Given the description of an element on the screen output the (x, y) to click on. 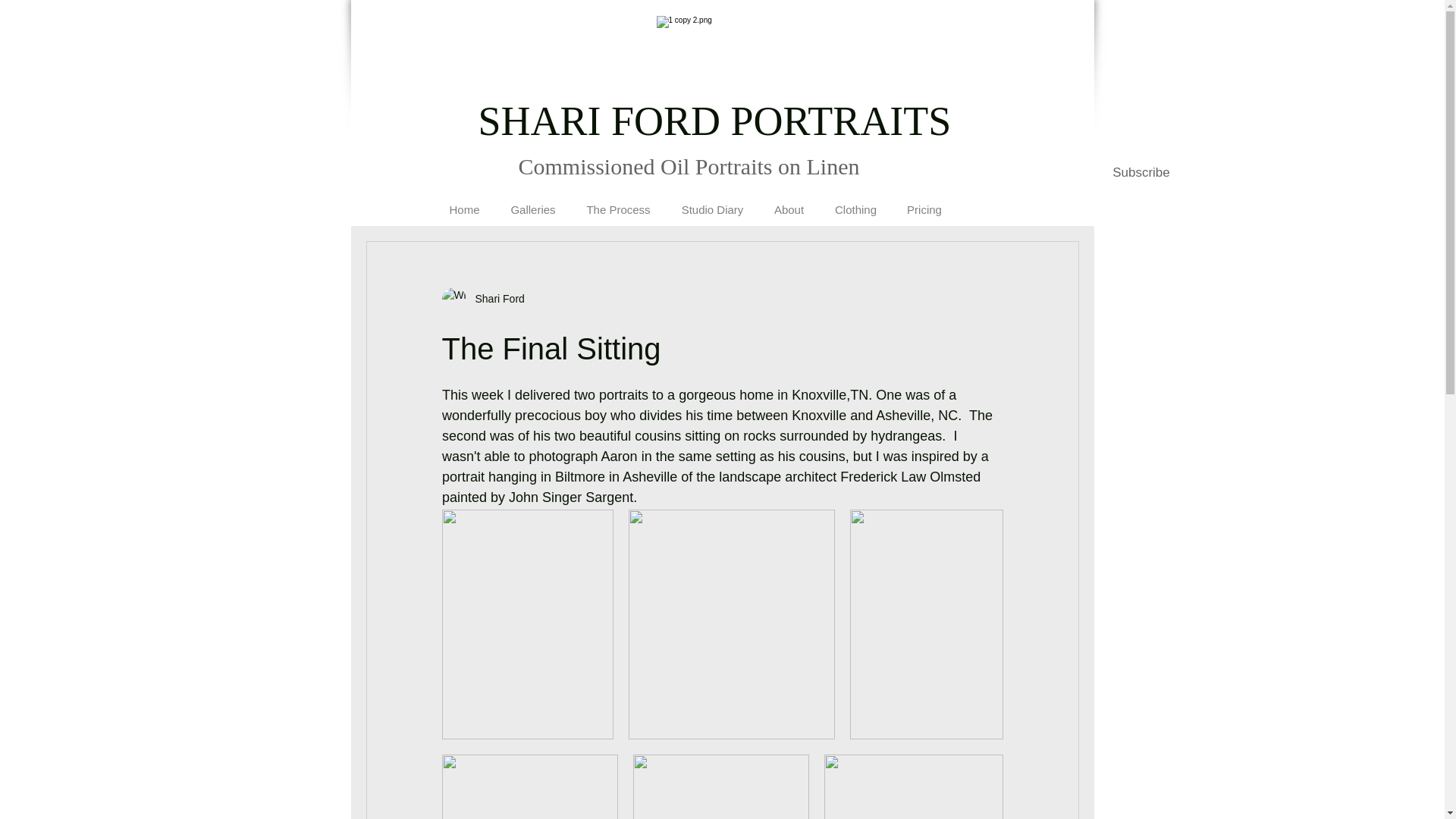
The Process (617, 202)
Studio Diary (711, 202)
Clothing (855, 202)
Home (464, 202)
Pricing (924, 202)
Shari Ford (482, 299)
About (788, 202)
Subscribe (1140, 173)
Shari Ford (494, 299)
